Given the description of an element on the screen output the (x, y) to click on. 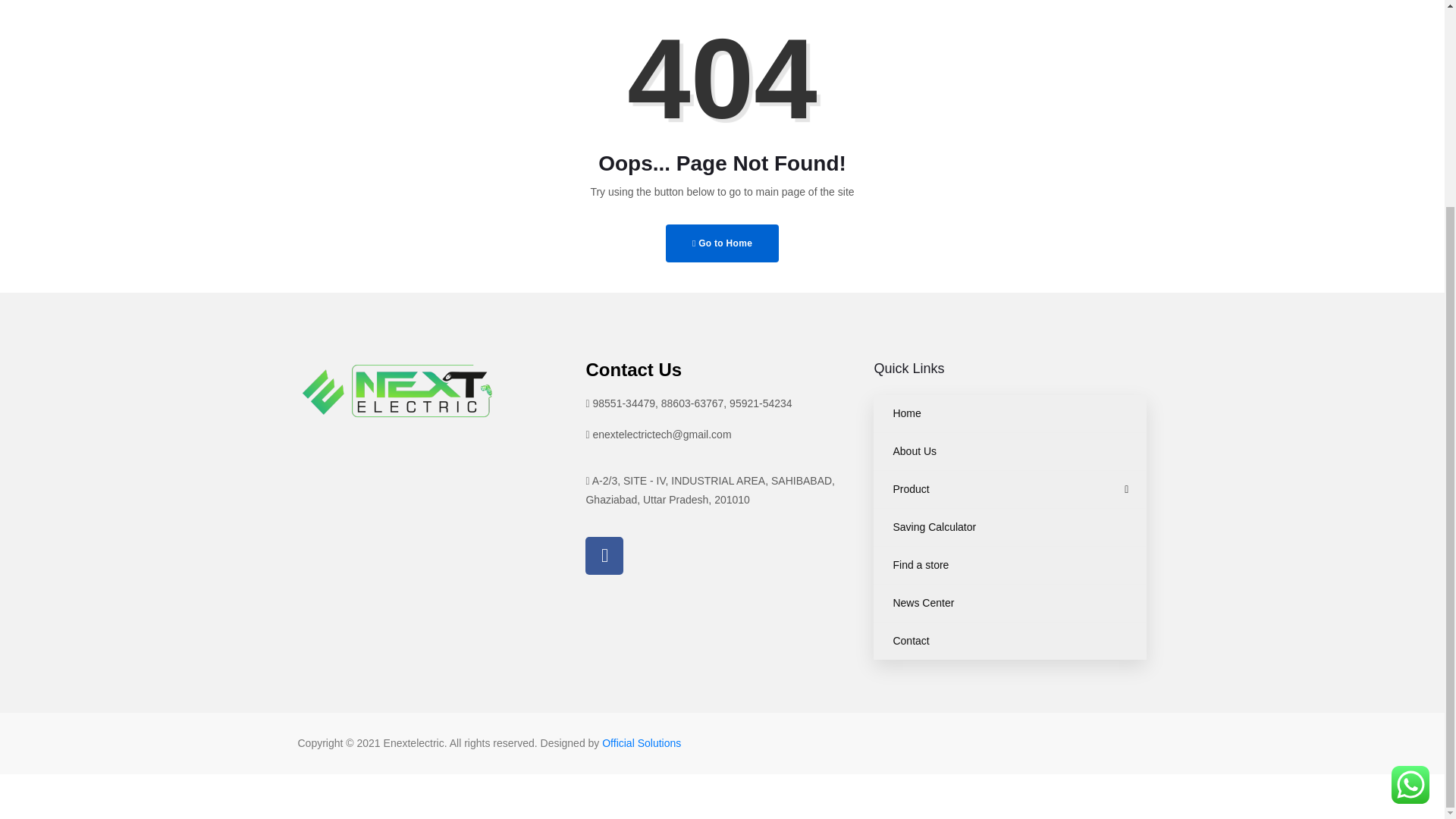
Home (1010, 413)
Go to Home (721, 243)
Product (1010, 488)
About Us (1010, 451)
